Given the description of an element on the screen output the (x, y) to click on. 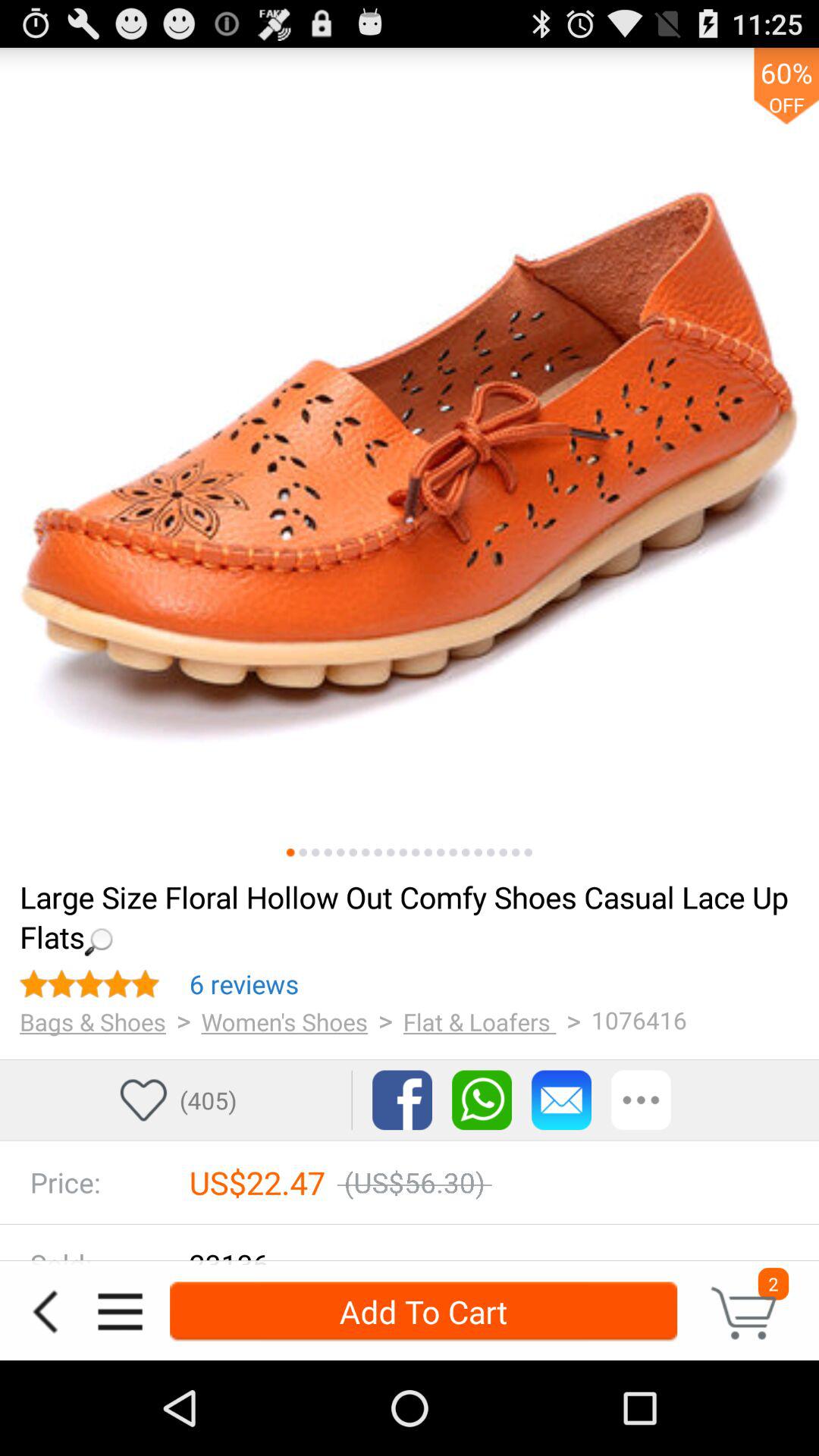
go back (45, 1311)
